Given the description of an element on the screen output the (x, y) to click on. 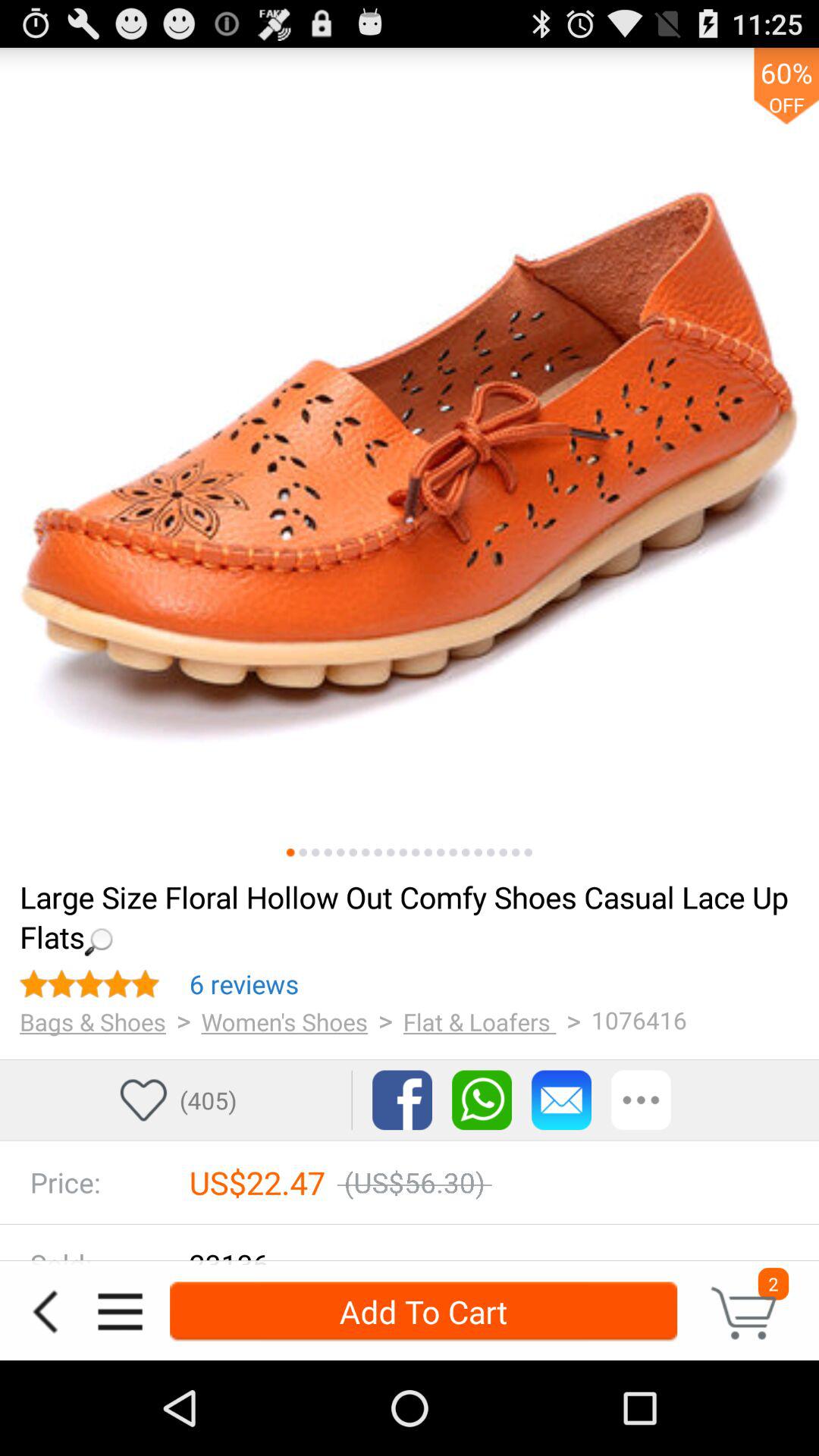
go back (45, 1311)
